Given the description of an element on the screen output the (x, y) to click on. 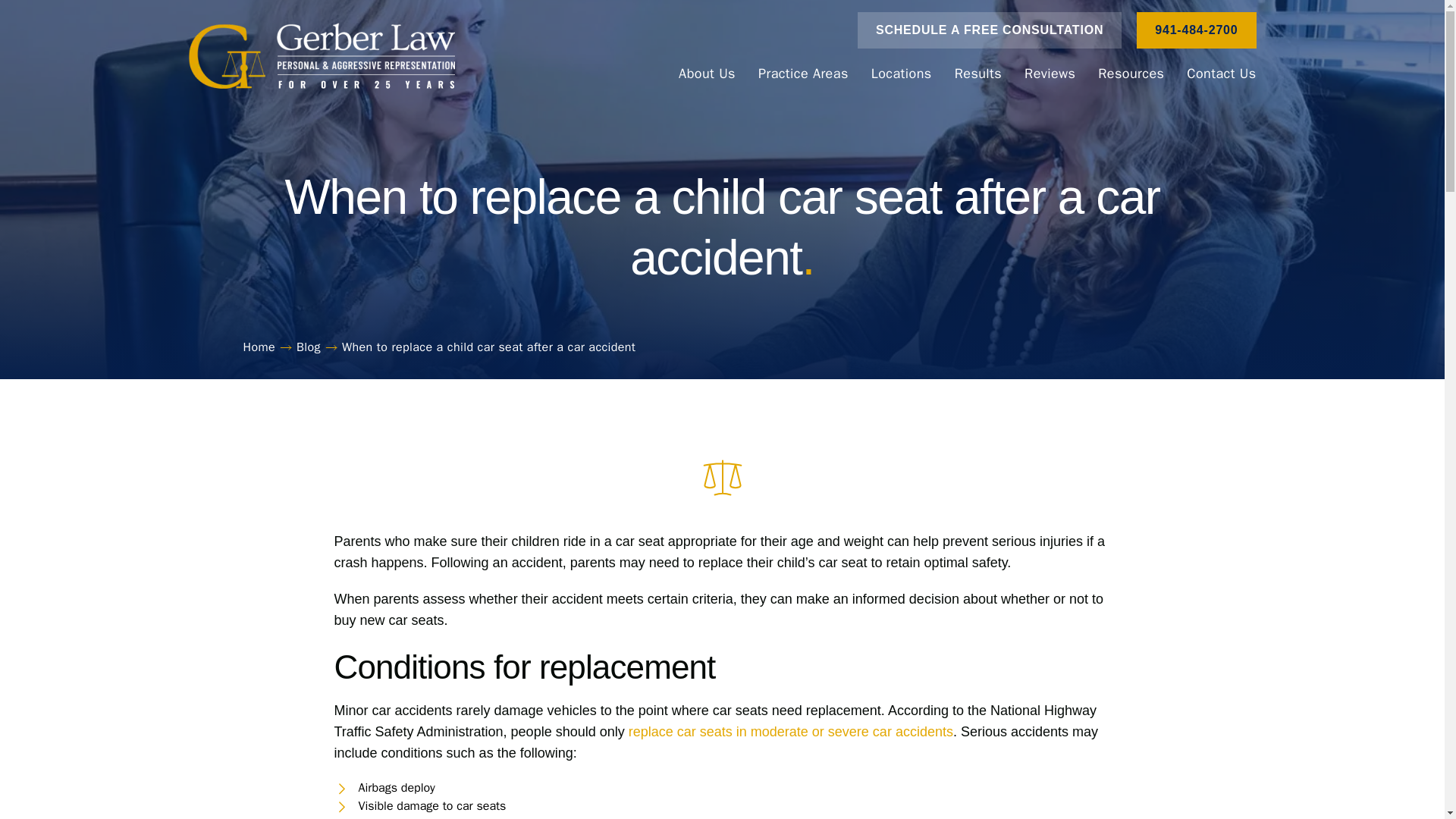
About Us (706, 73)
941-484-2700 (1196, 30)
SCHEDULE A FREE CONSULTATION (989, 30)
Breadcrumb Separator (330, 346)
Resources (1130, 73)
Locations (901, 73)
Reviews (1049, 73)
Results (978, 73)
Return Home (320, 55)
Practice Areas (803, 73)
Breadcrumb Separator (285, 346)
Call (1196, 30)
Schedule A Free Consultation (989, 30)
